Given the description of an element on the screen output the (x, y) to click on. 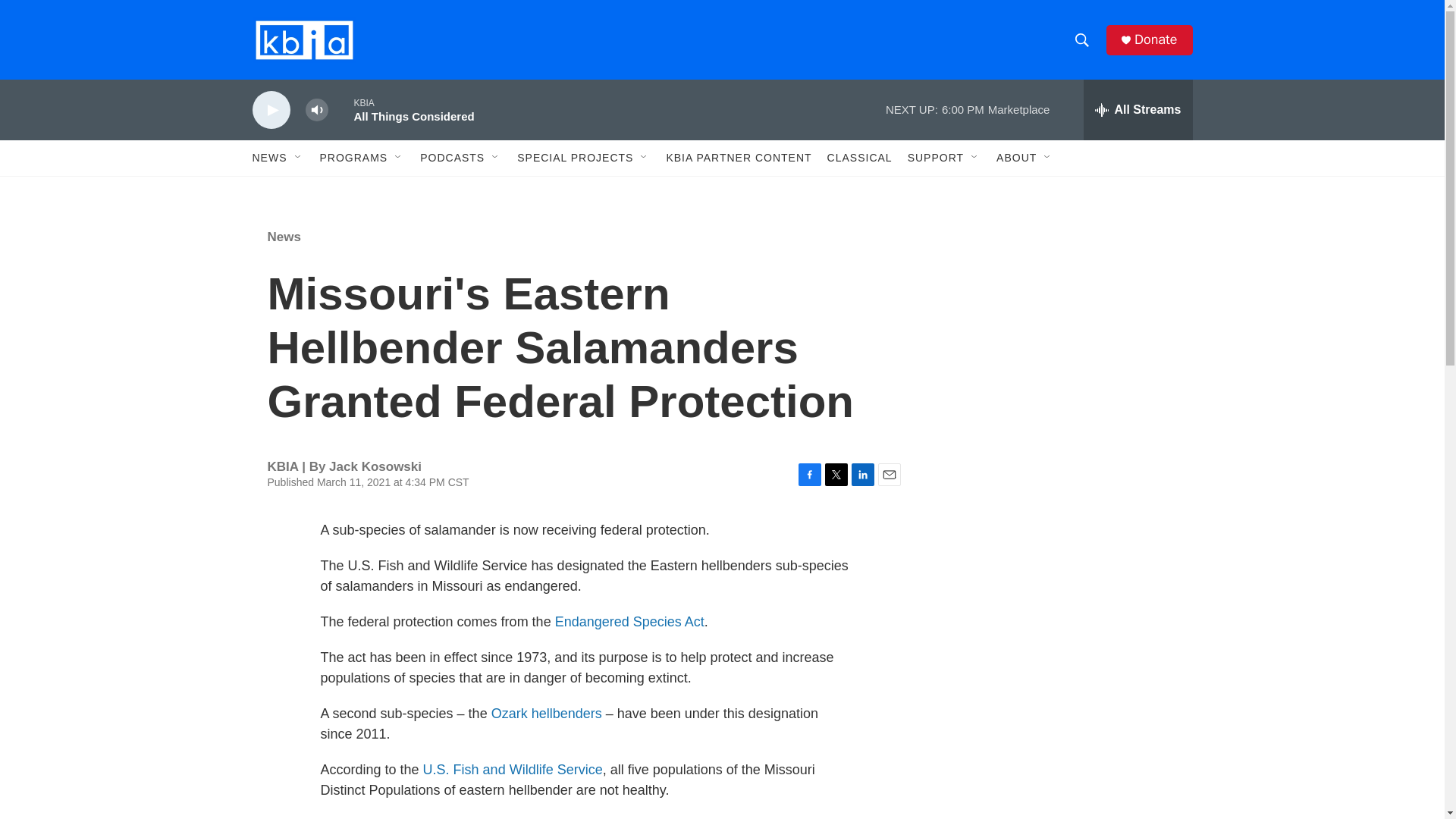
3rd party ad content (1062, 740)
3rd party ad content (1062, 536)
3rd party ad content (1062, 316)
